Given the description of an element on the screen output the (x, y) to click on. 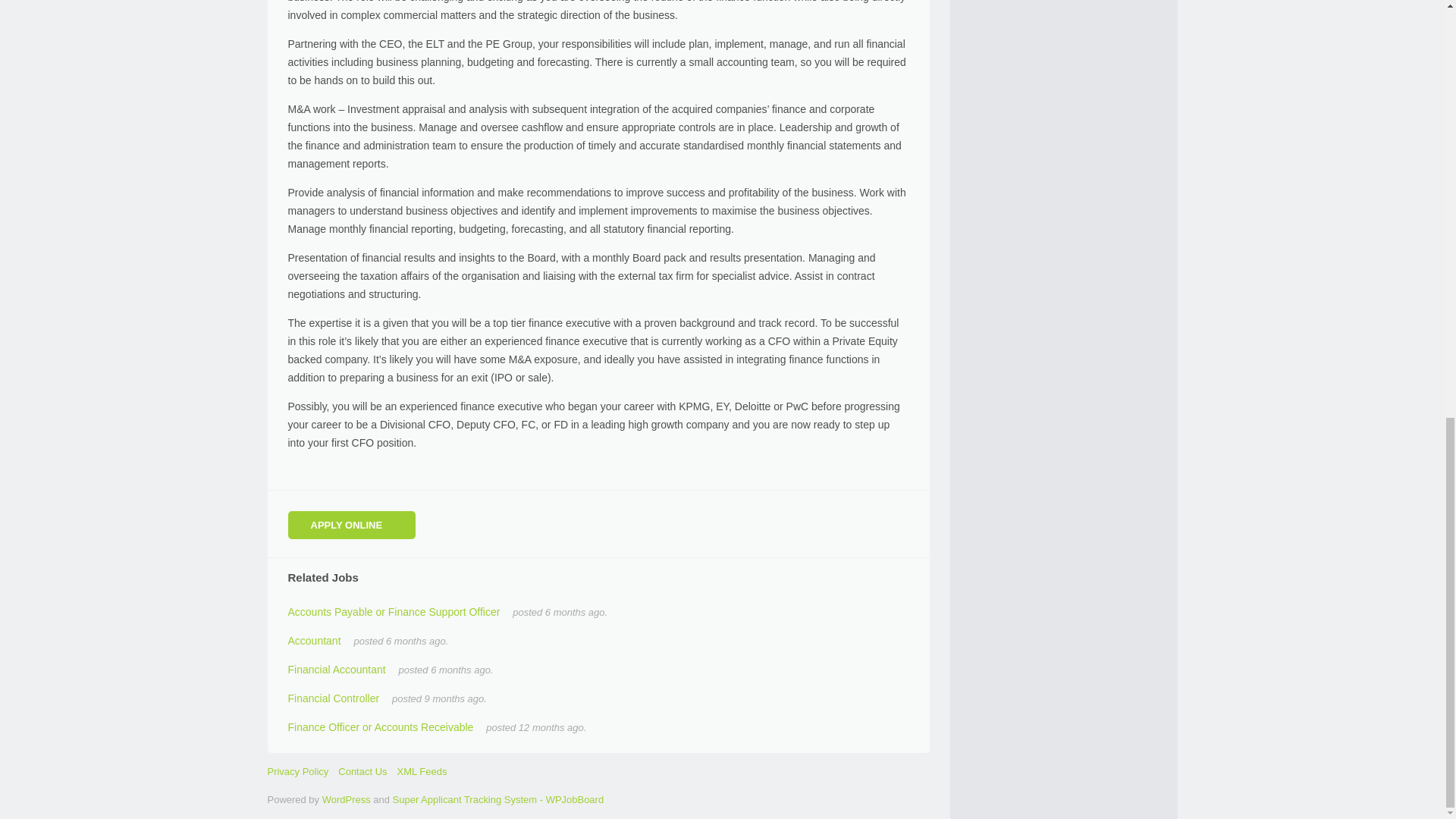
Privacy Policy (297, 771)
Financial Controller (334, 698)
APPLY ONLINE   (351, 524)
XML Feeds (421, 771)
WordPress (346, 799)
Financial Accountant (336, 669)
Contact Us (362, 771)
Accounts Payable or Finance Support Officer (394, 612)
Accountant (314, 640)
Finance Officer or Accounts Receivable (381, 727)
Super Applicant Tracking System - WPJobBoard (498, 799)
